Given the description of an element on the screen output the (x, y) to click on. 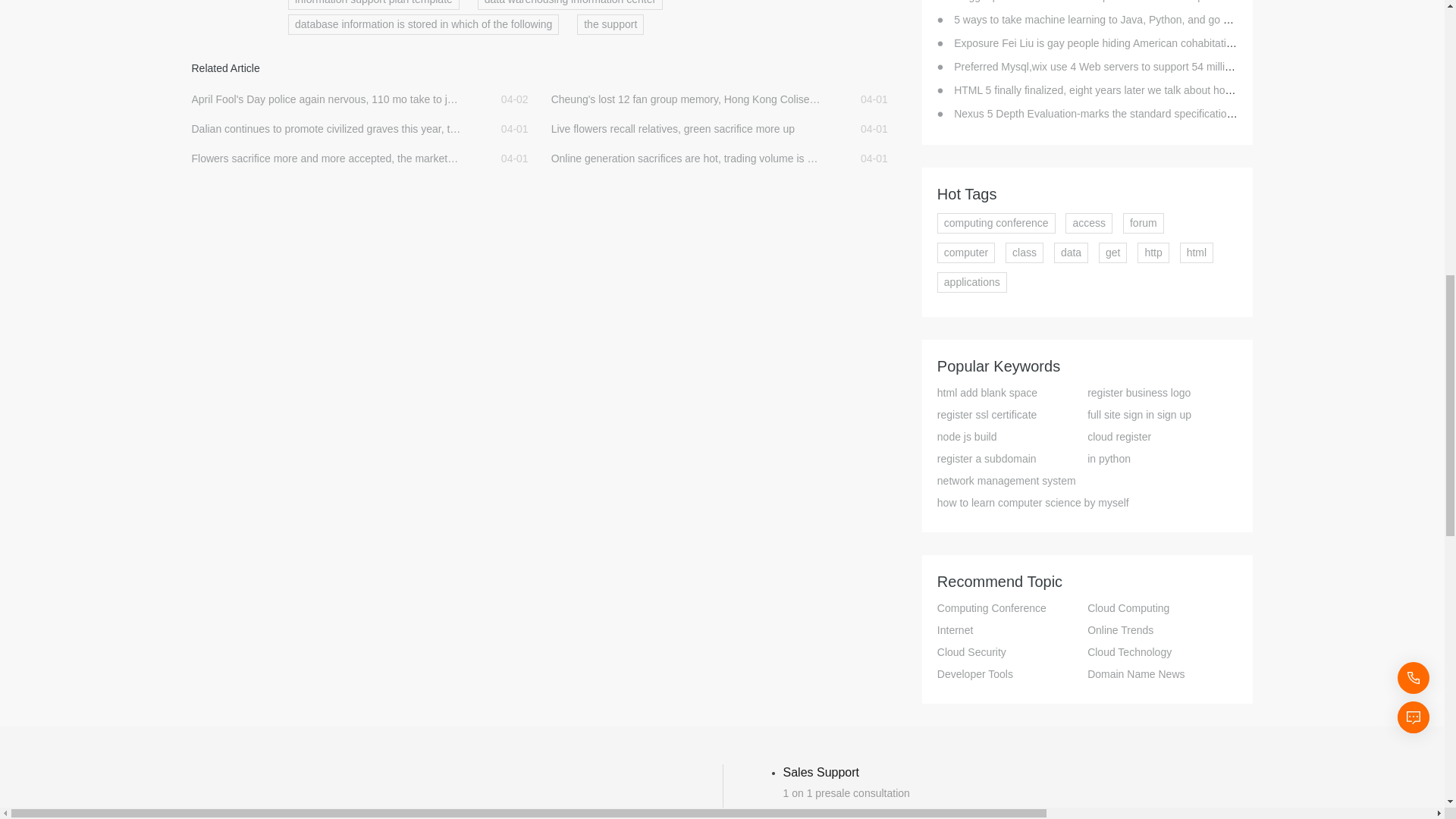
Live flowers recall relatives, green sacrifice more up (686, 129)
access (1088, 222)
computing conference (996, 222)
the support (609, 24)
applications (972, 281)
database information is stored in which of the following (423, 24)
